Given the description of an element on the screen output the (x, y) to click on. 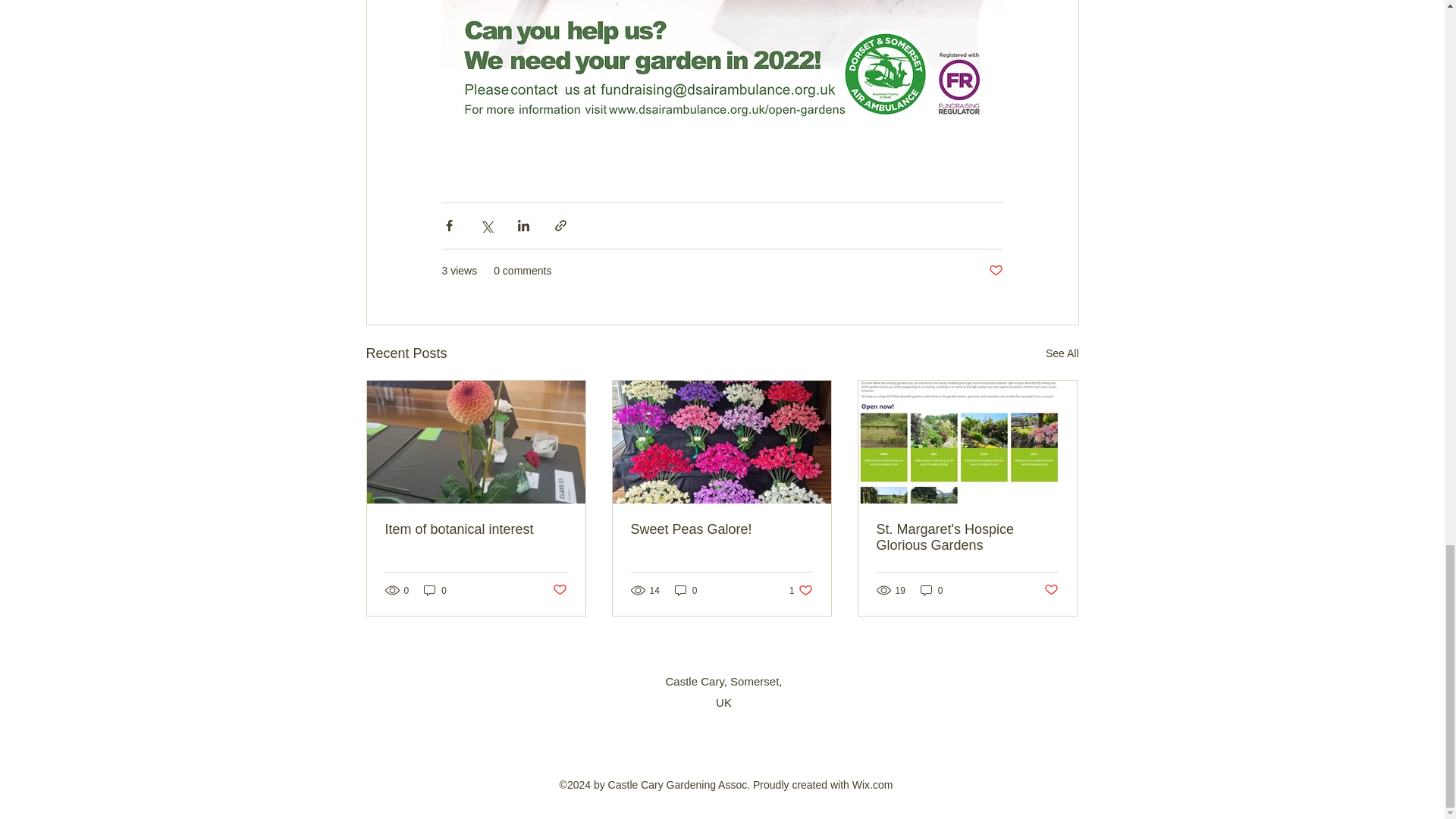
Post not marked as liked (995, 270)
0 (435, 590)
Post not marked as liked (558, 590)
Sweet Peas Galore! (721, 529)
See All (1061, 353)
Item of botanical interest (476, 529)
0 (685, 590)
